Given the description of an element on the screen output the (x, y) to click on. 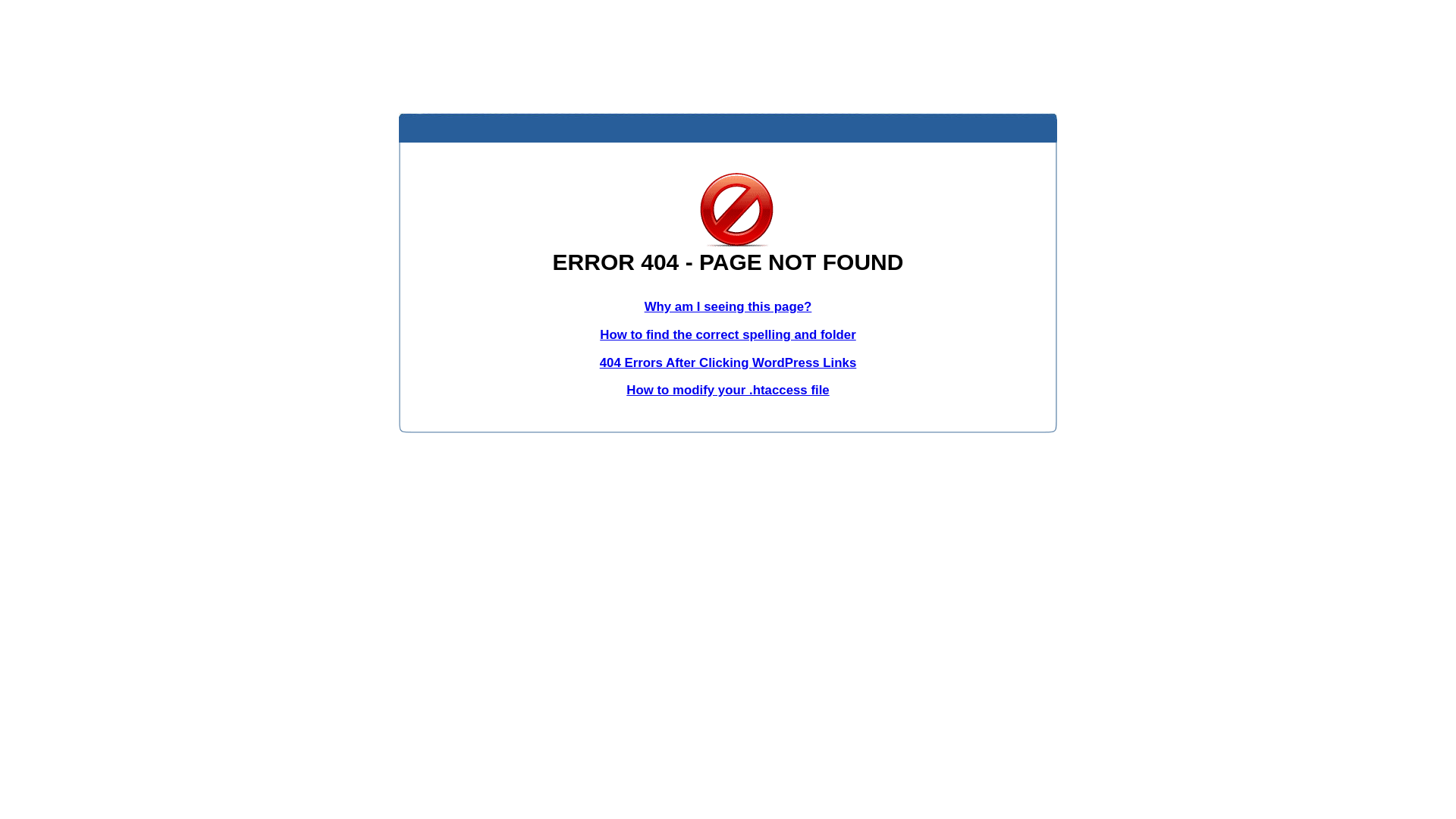
404 Errors After Clicking WordPress Links Element type: text (727, 362)
Why am I seeing this page? Element type: text (728, 306)
How to modify your .htaccess file Element type: text (727, 389)
How to find the correct spelling and folder Element type: text (727, 334)
